Given the description of an element on the screen output the (x, y) to click on. 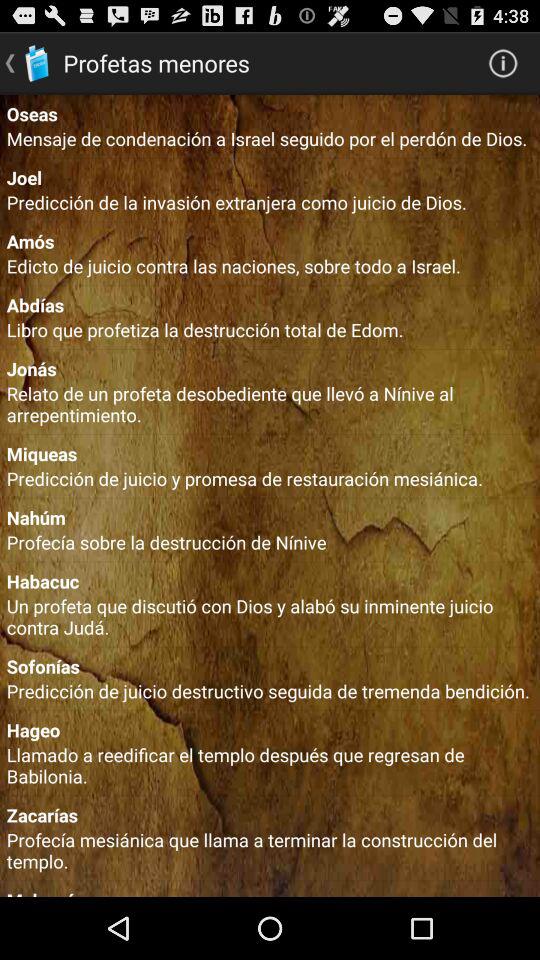
flip until the habacuc app (269, 580)
